Given the description of an element on the screen output the (x, y) to click on. 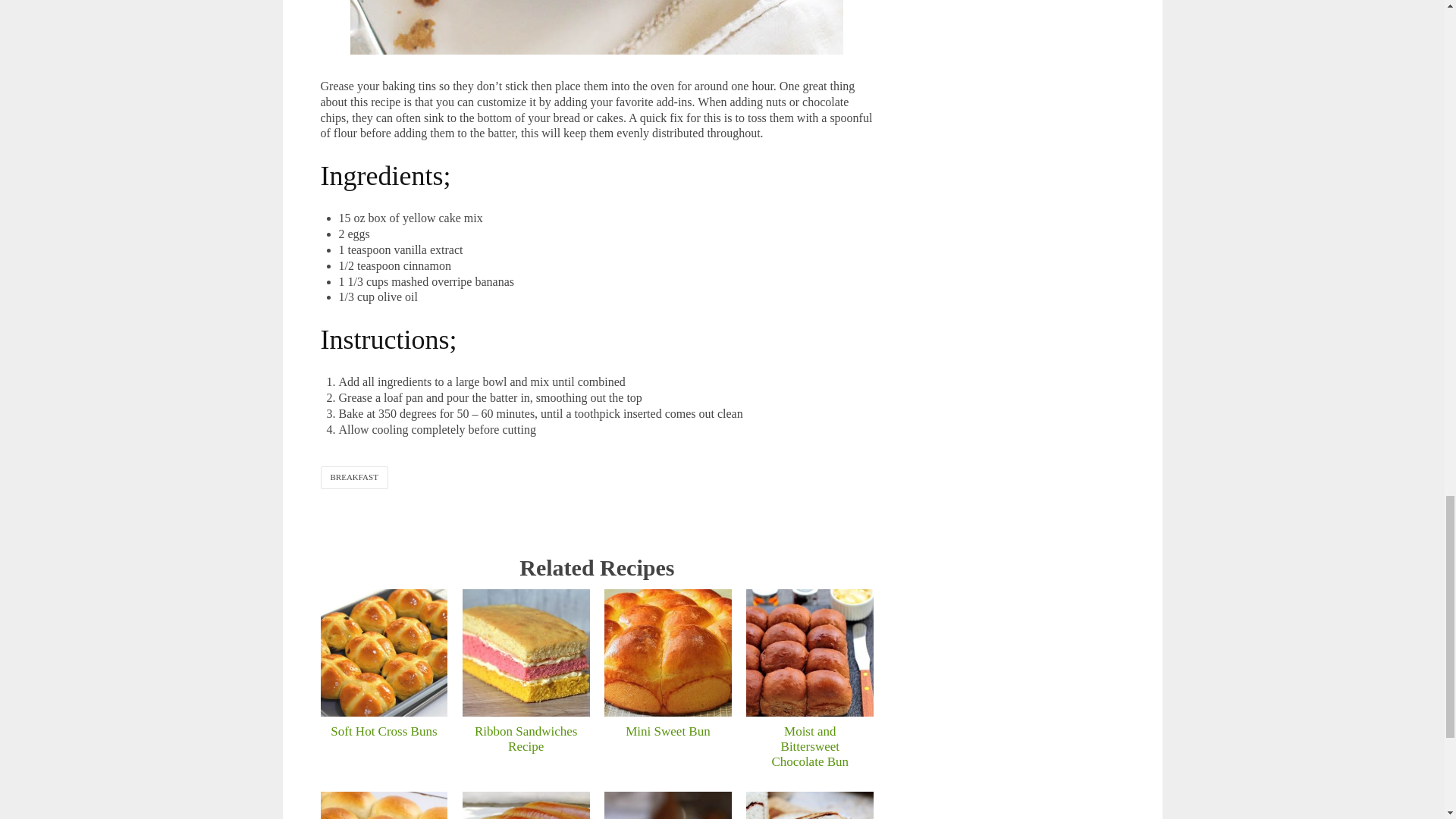
Ribbon Sandwiches Recipe (526, 652)
Moist and Bittersweet Chocolate Bun (809, 652)
Soft Hot Cross Buns (383, 652)
Ribbon Sandwiches Recipe (526, 738)
Mini Sweet Bun (668, 730)
Soft Hot Cross Buns (383, 730)
BREAKFAST (353, 477)
Honeysoft Buns (383, 805)
Cinnamon Swirl Bread (809, 805)
Homemade Brioche Loaf. (668, 805)
Mini Sweet Bun (668, 652)
Easy No Knead French Bread (526, 805)
